Given the description of an element on the screen output the (x, y) to click on. 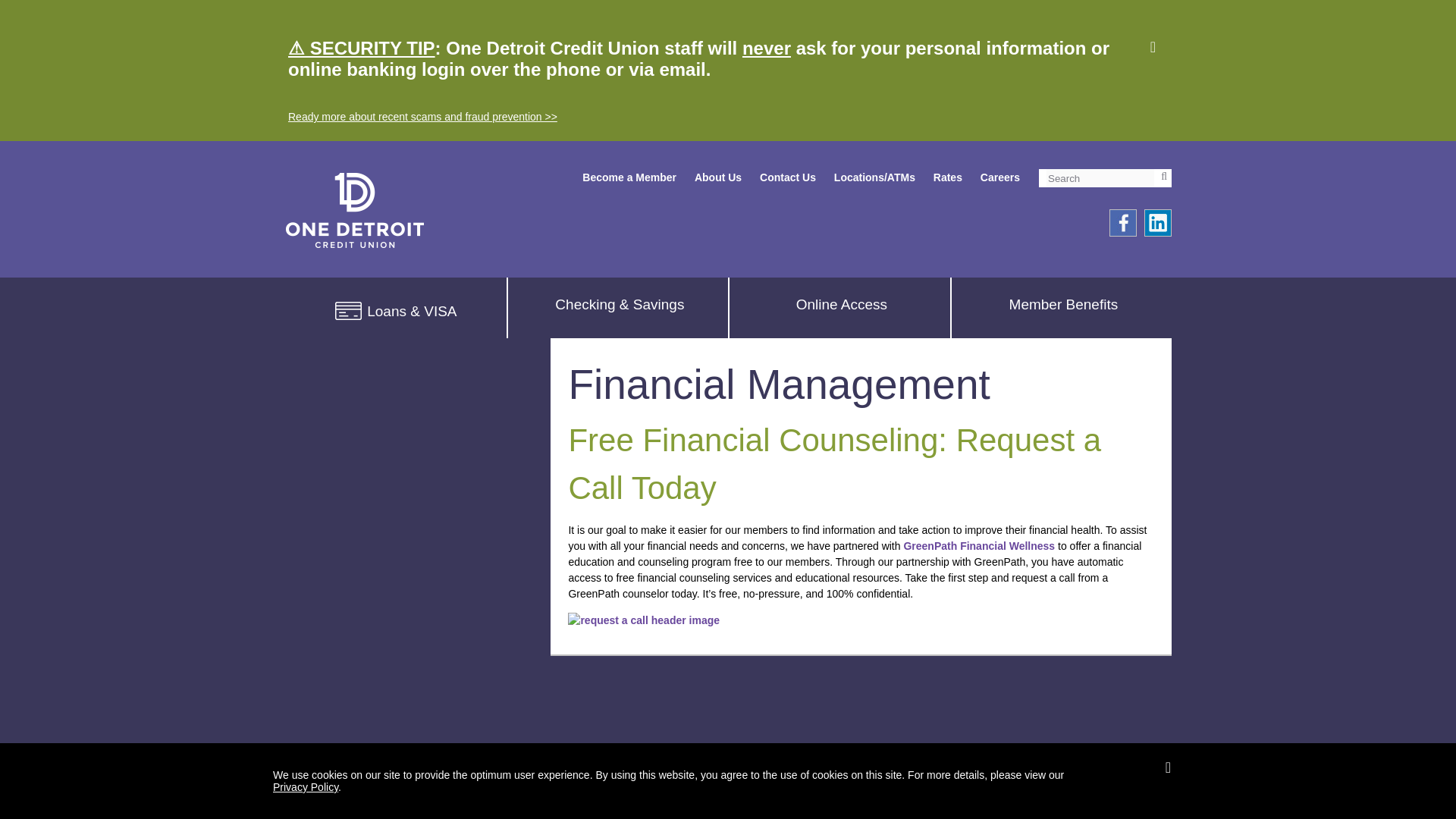
Contact Us (787, 177)
Rates (947, 177)
Become a Member (629, 177)
About Us (717, 177)
Careers (999, 177)
